Given the description of an element on the screen output the (x, y) to click on. 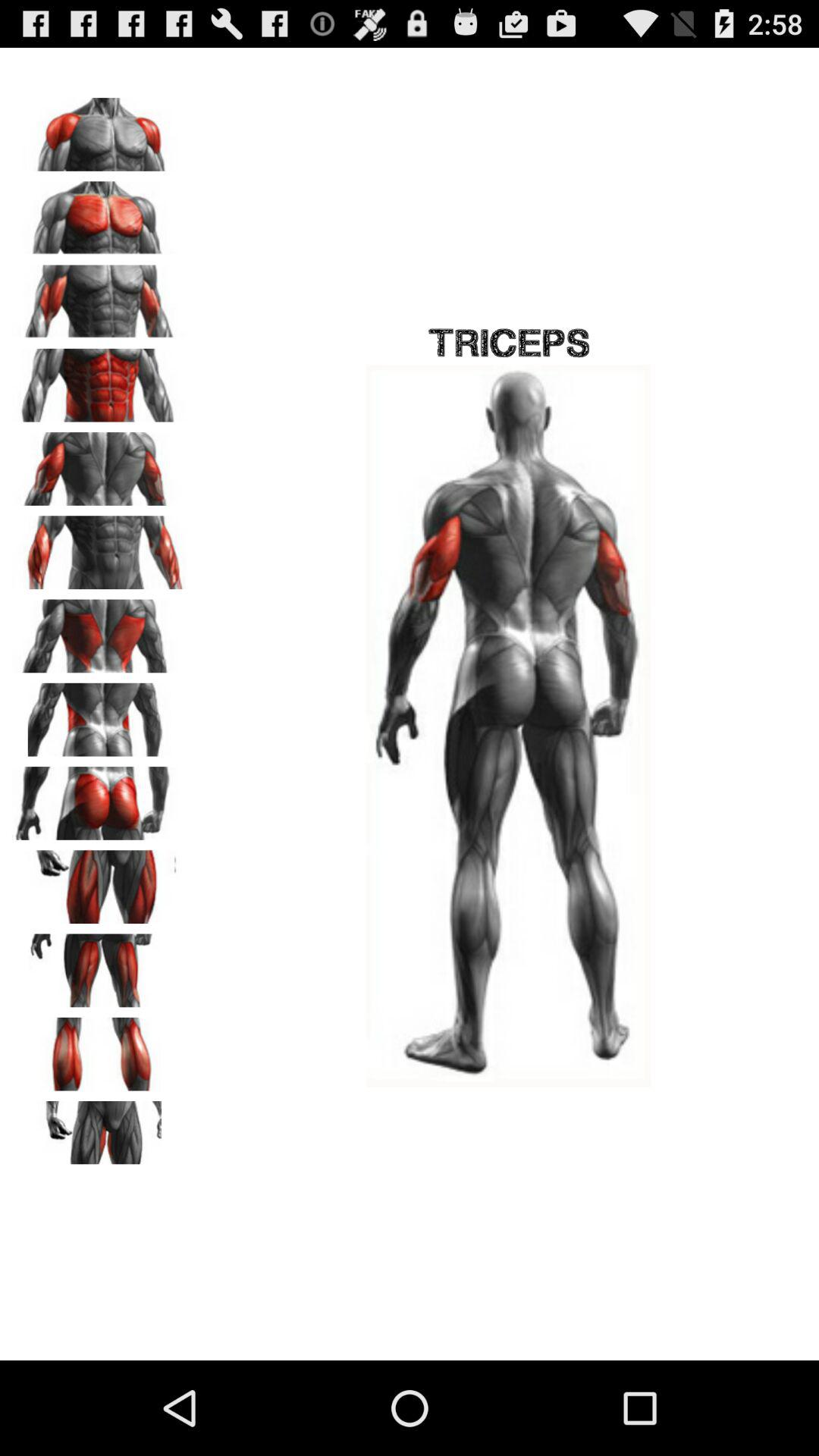
third muscle body image (99, 296)
